Given the description of an element on the screen output the (x, y) to click on. 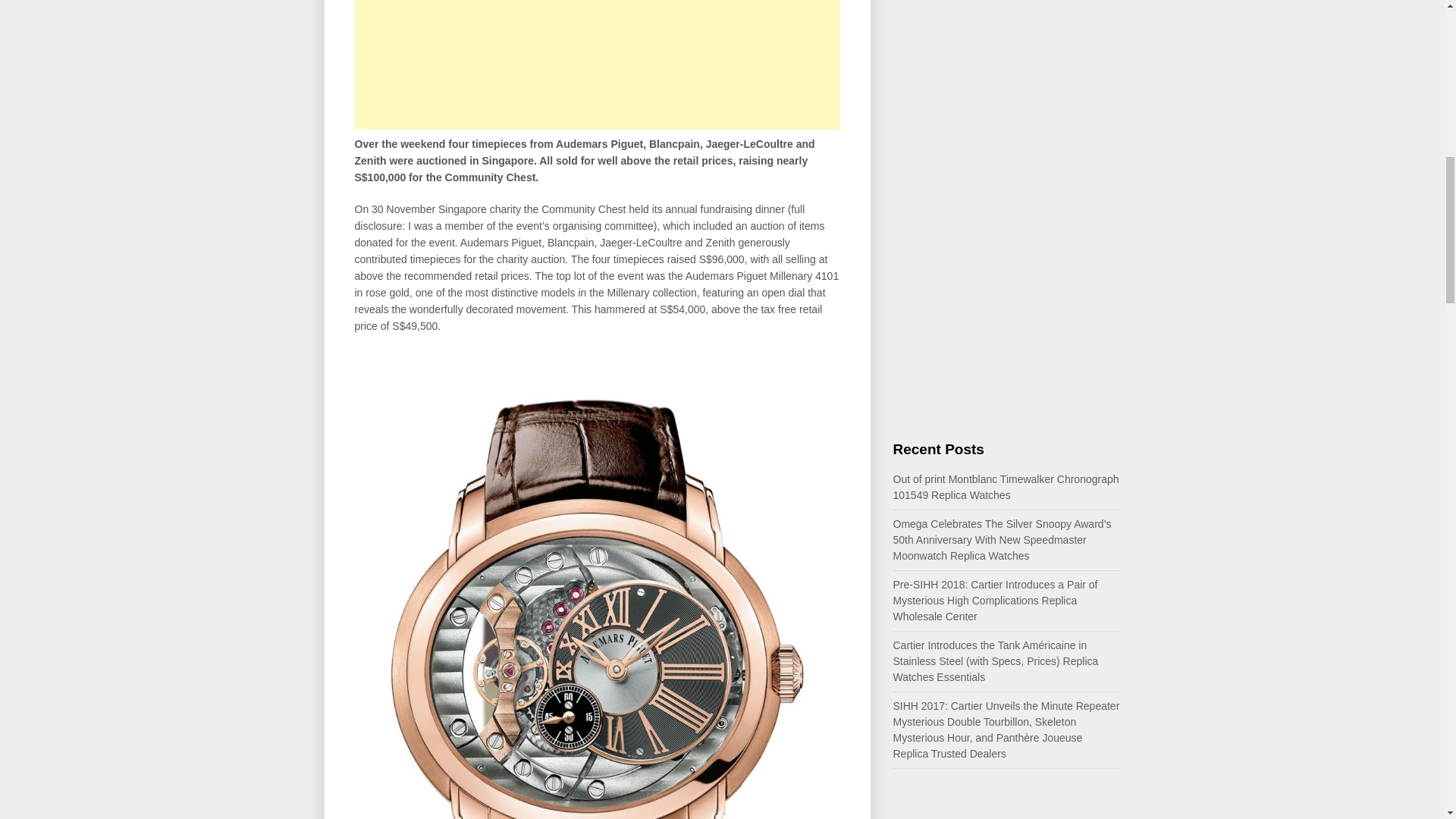
Advertisement (597, 64)
